Given the description of an element on the screen output the (x, y) to click on. 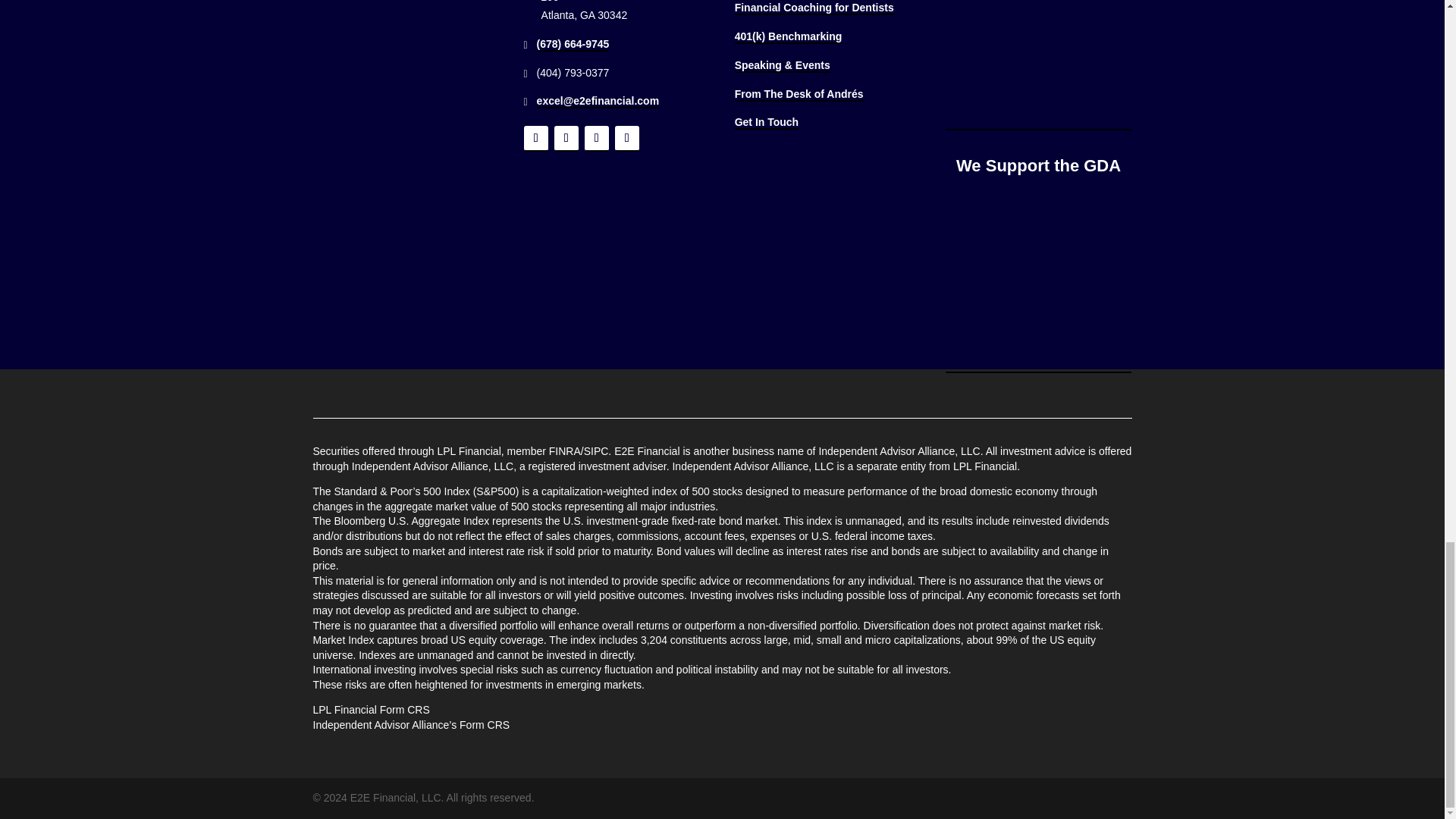
Follow on LinkedIn (596, 138)
Get In Touch (767, 122)
Follow on Facebook (536, 138)
Follow on Twitter (566, 138)
Financial Coaching for Dentists (814, 8)
Follow on Youtube (626, 138)
